Given the description of an element on the screen output the (x, y) to click on. 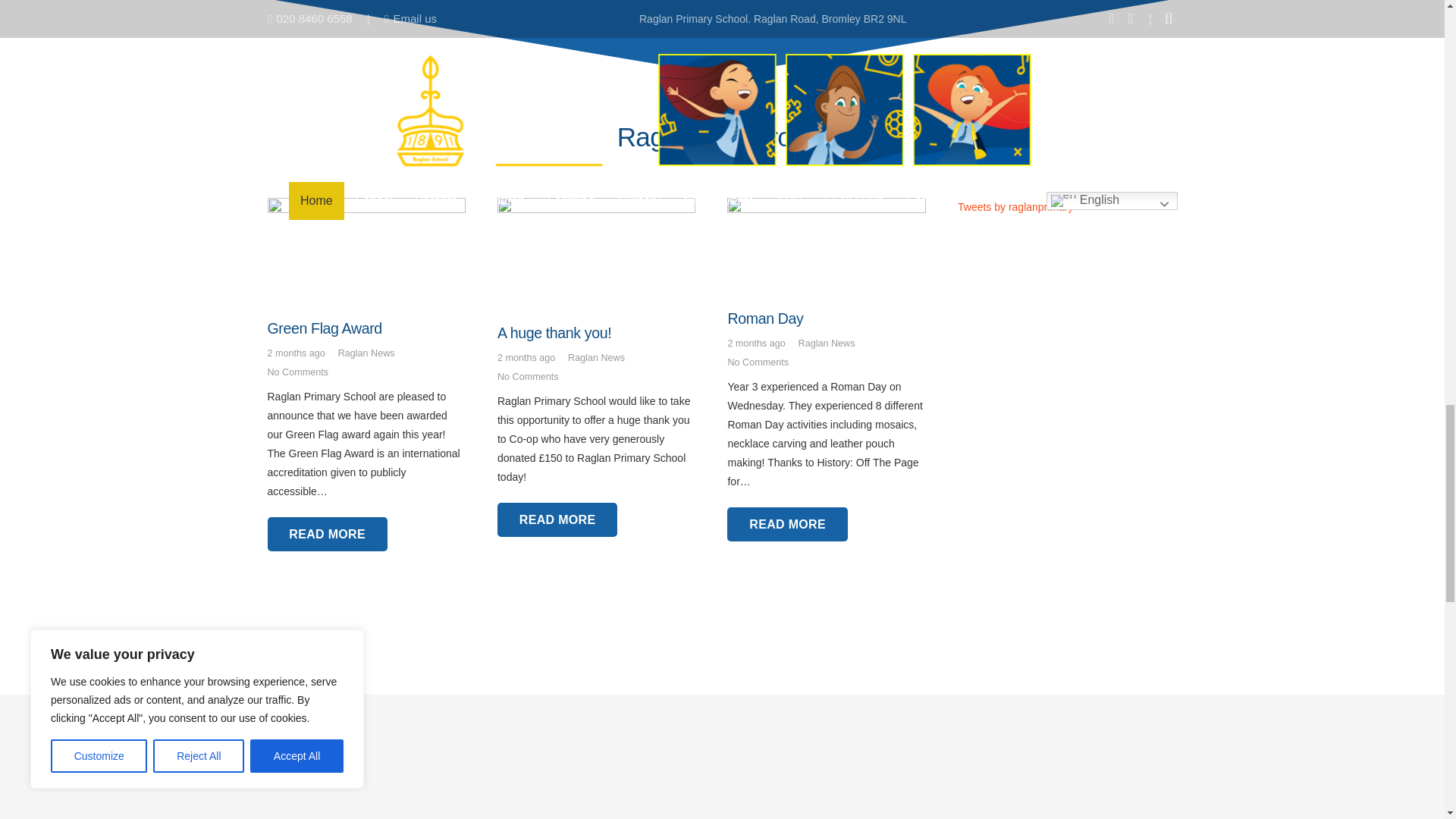
No Comments (756, 362)
No Comments (296, 371)
No Comments (527, 376)
